Given the description of an element on the screen output the (x, y) to click on. 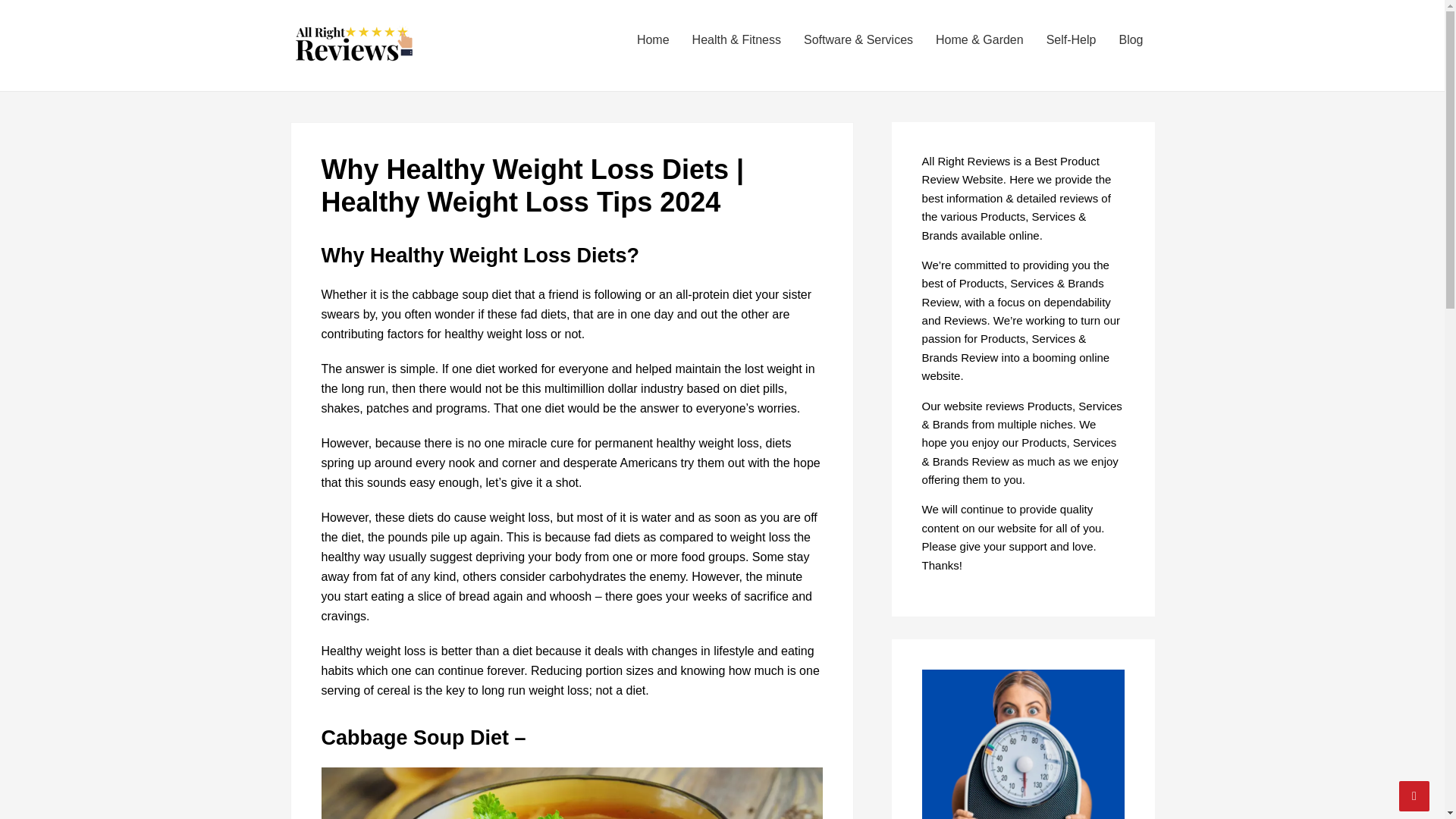
Home (653, 39)
Self-Help (1071, 39)
